Given the description of an element on the screen output the (x, y) to click on. 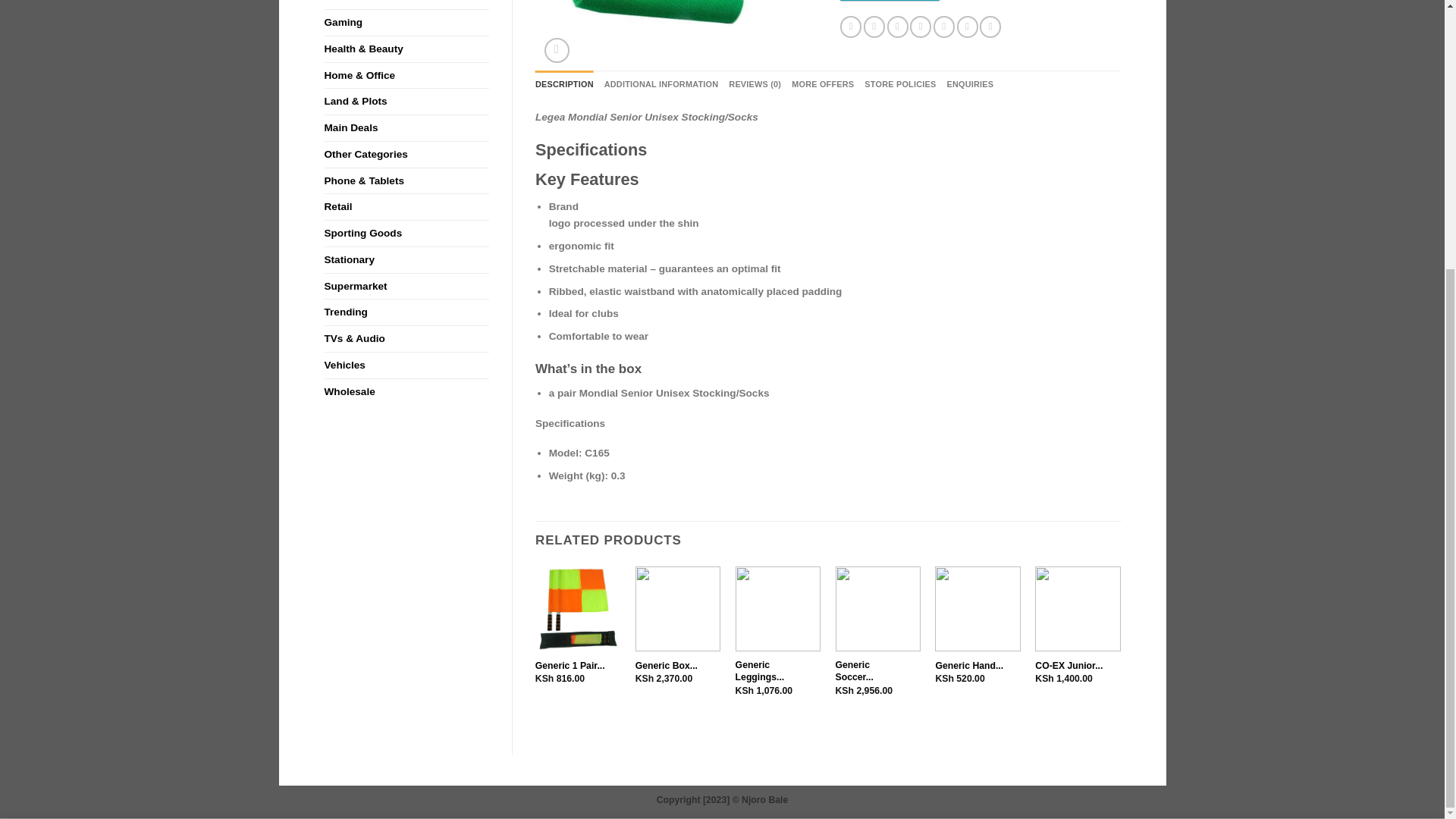
Share on Twitter (874, 26)
Zoom (556, 50)
Share on Facebook (850, 26)
